Given the description of an element on the screen output the (x, y) to click on. 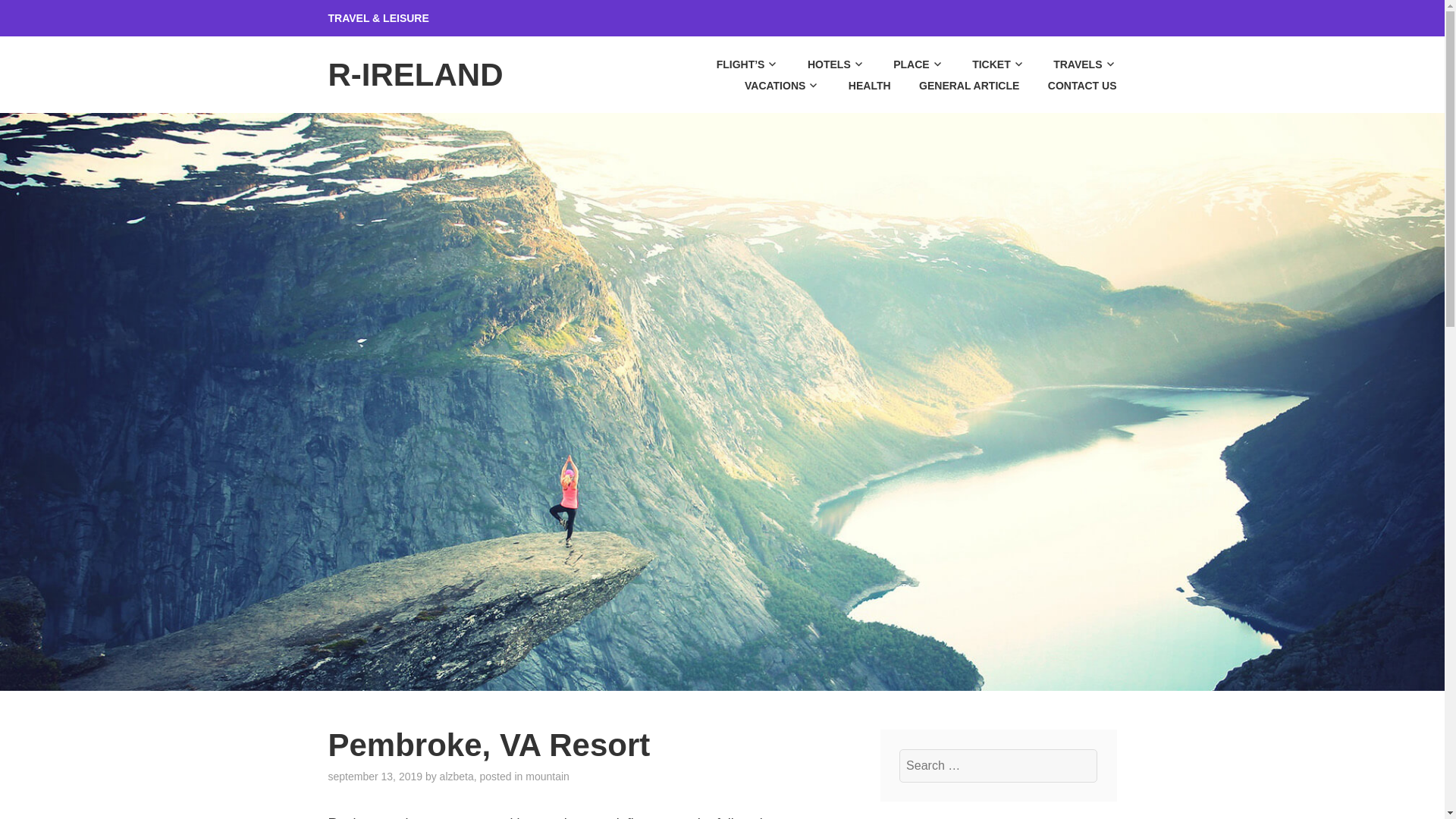
HOTELS (822, 64)
Search (48, 17)
PLACE (905, 64)
VACATIONS (769, 85)
TICKET (986, 64)
september 13, 2019 (374, 776)
CONTACT US (1069, 85)
HEALTH (855, 85)
R-IRELAND (414, 74)
